Given the description of an element on the screen output the (x, y) to click on. 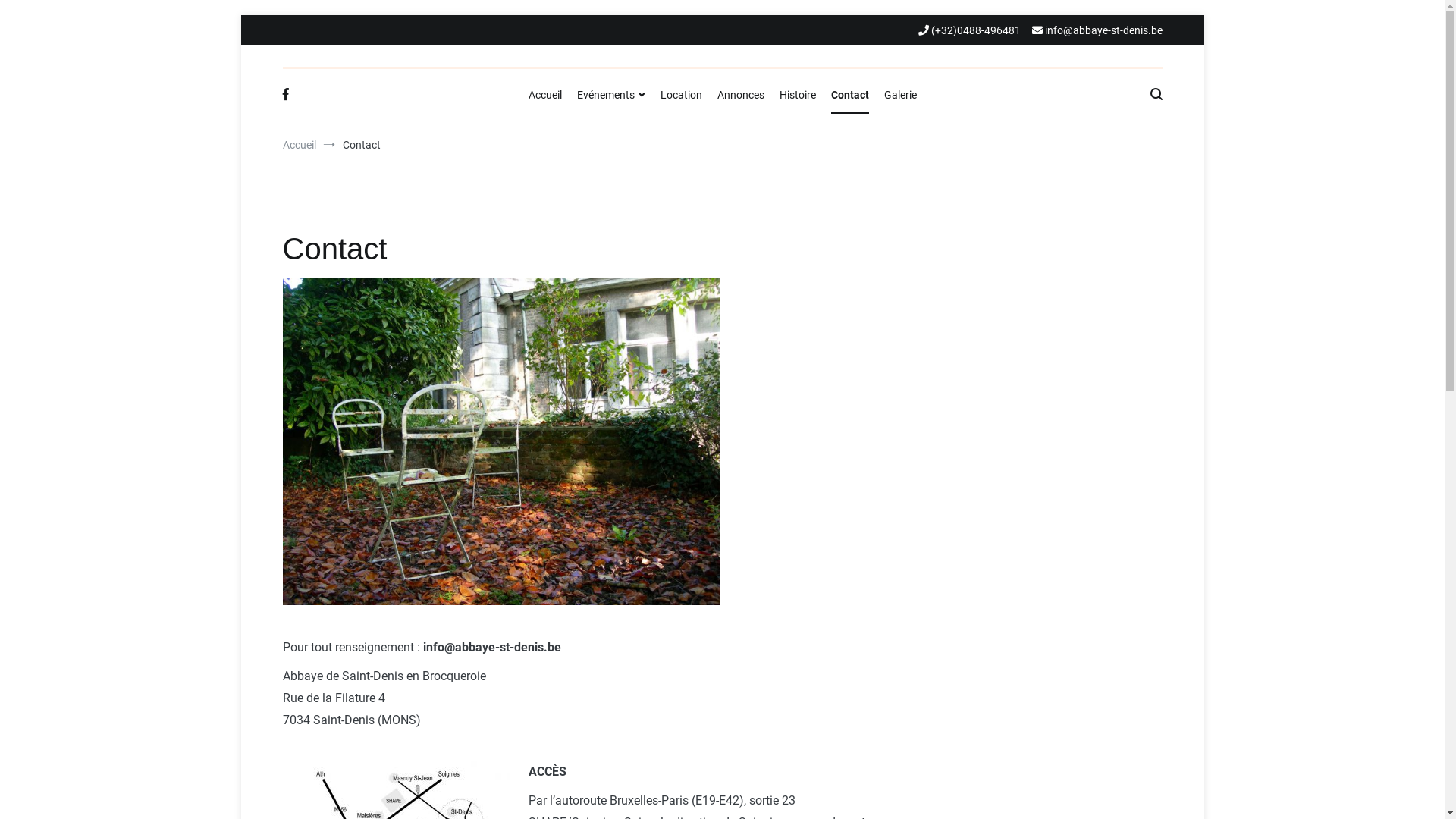
Accueil Element type: text (298, 144)
Contact Element type: text (850, 95)
(+32)0488-496481 Element type: text (968, 30)
Annonces Element type: text (740, 95)
Accueil Element type: text (544, 95)
Abbaye de Saint-Denis Element type: text (807, 81)
Histoire Element type: text (797, 95)
Rechercher Element type: text (56, 16)
Galerie Element type: text (900, 95)
Aller au contenu Element type: text (239, 14)
info@abbaye-st-denis.be Element type: text (1096, 30)
Location Element type: text (680, 95)
